Given the description of an element on the screen output the (x, y) to click on. 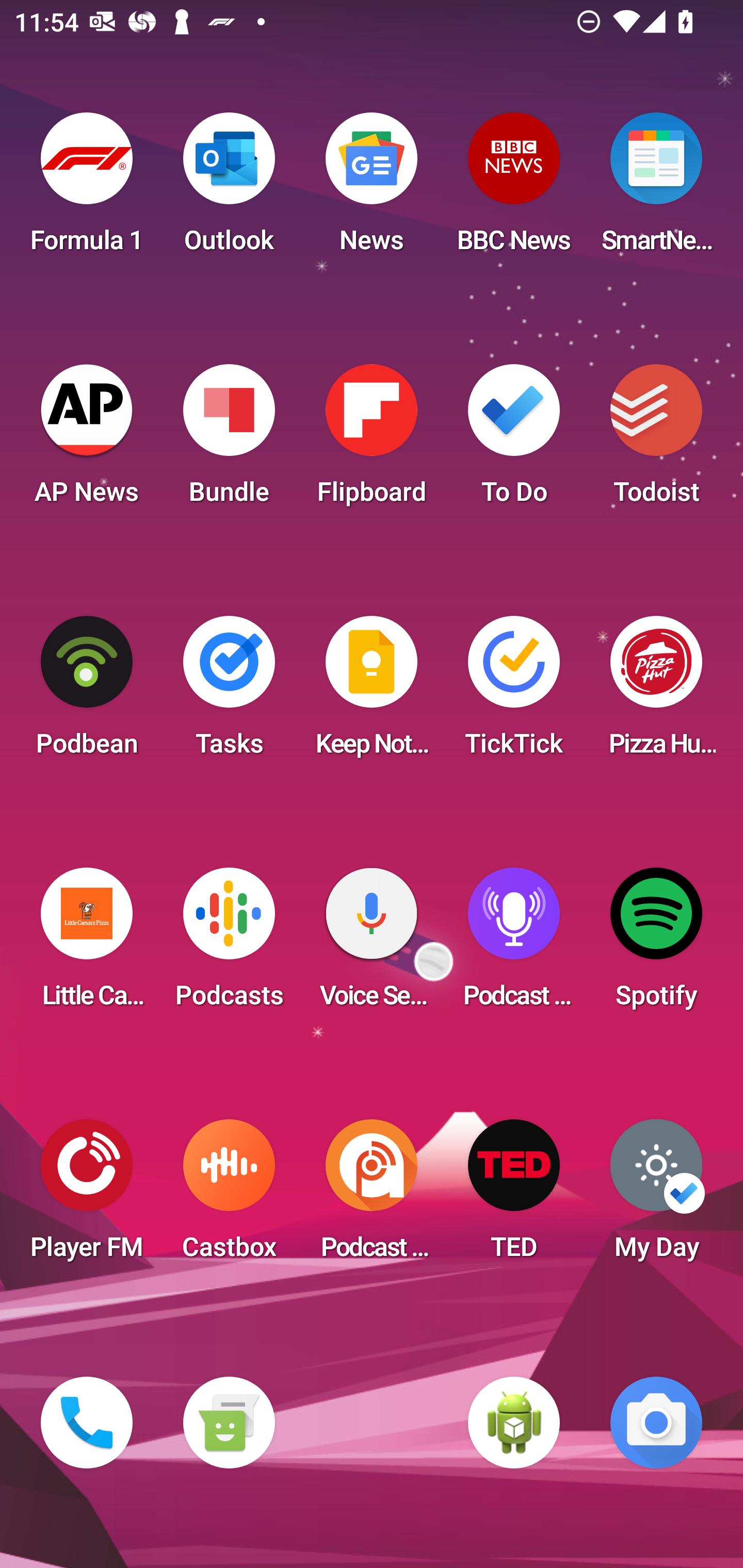
Formula 1 (86, 188)
Outlook (228, 188)
News (371, 188)
BBC News (513, 188)
SmartNews (656, 188)
AP News (86, 440)
Bundle (228, 440)
Flipboard (371, 440)
To Do (513, 440)
Todoist (656, 440)
Podbean (86, 692)
Tasks (228, 692)
Keep Notes (371, 692)
TickTick (513, 692)
Pizza Hut HK & Macau (656, 692)
Little Caesars Pizza (86, 943)
Podcasts (228, 943)
Voice Search (371, 943)
Podcast Player (513, 943)
Spotify (656, 943)
Player FM (86, 1195)
Castbox (228, 1195)
Podcast Addict (371, 1195)
TED (513, 1195)
My Day (656, 1195)
Phone (86, 1422)
Messaging (228, 1422)
WebView Browser Tester (513, 1422)
Camera (656, 1422)
